Given the description of an element on the screen output the (x, y) to click on. 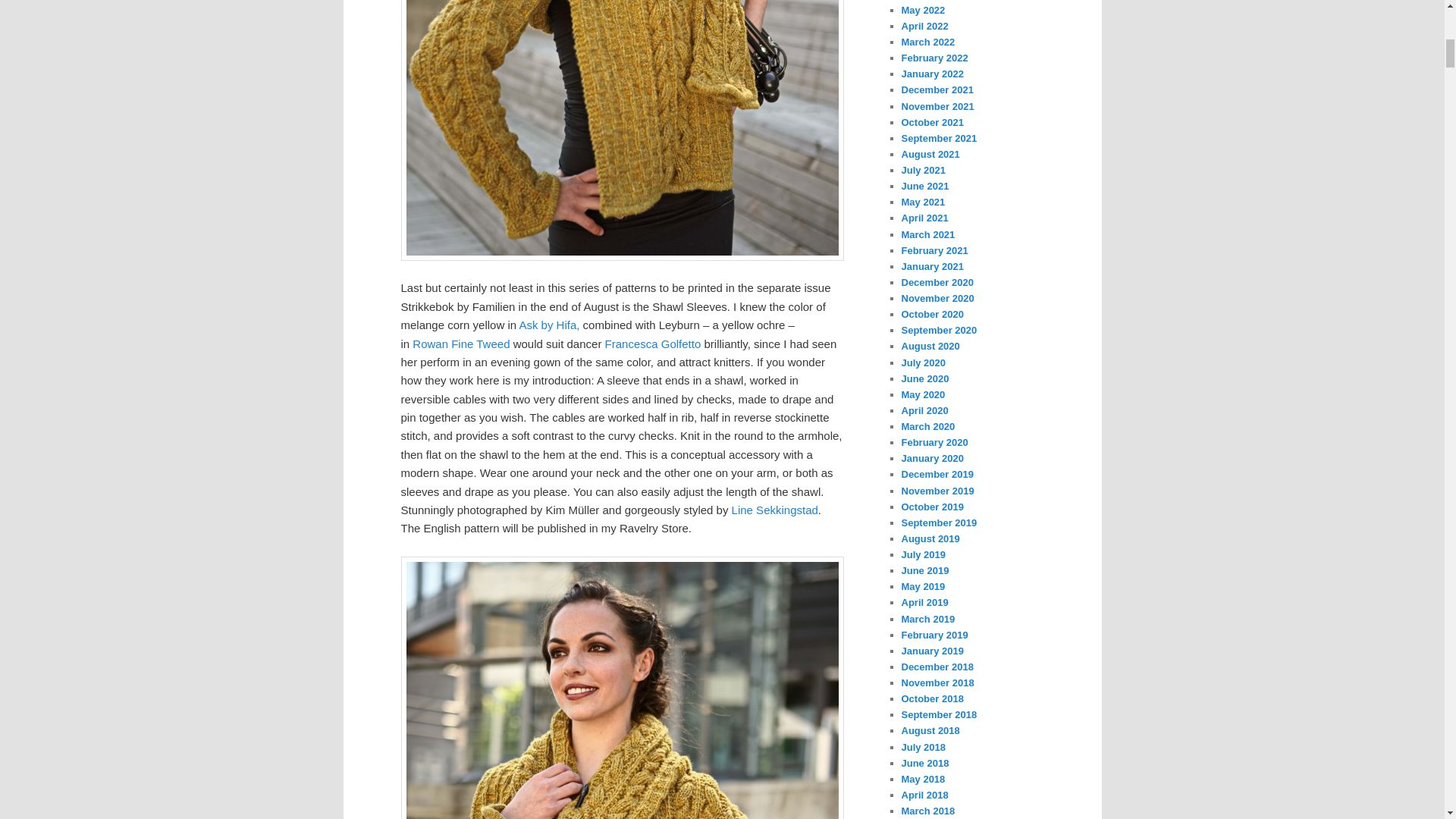
Francesca Golfetto (653, 342)
Line Sekkingstad (775, 509)
Ask by Hifa, (548, 324)
Rowan Fine Tweed (460, 342)
